Given the description of an element on the screen output the (x, y) to click on. 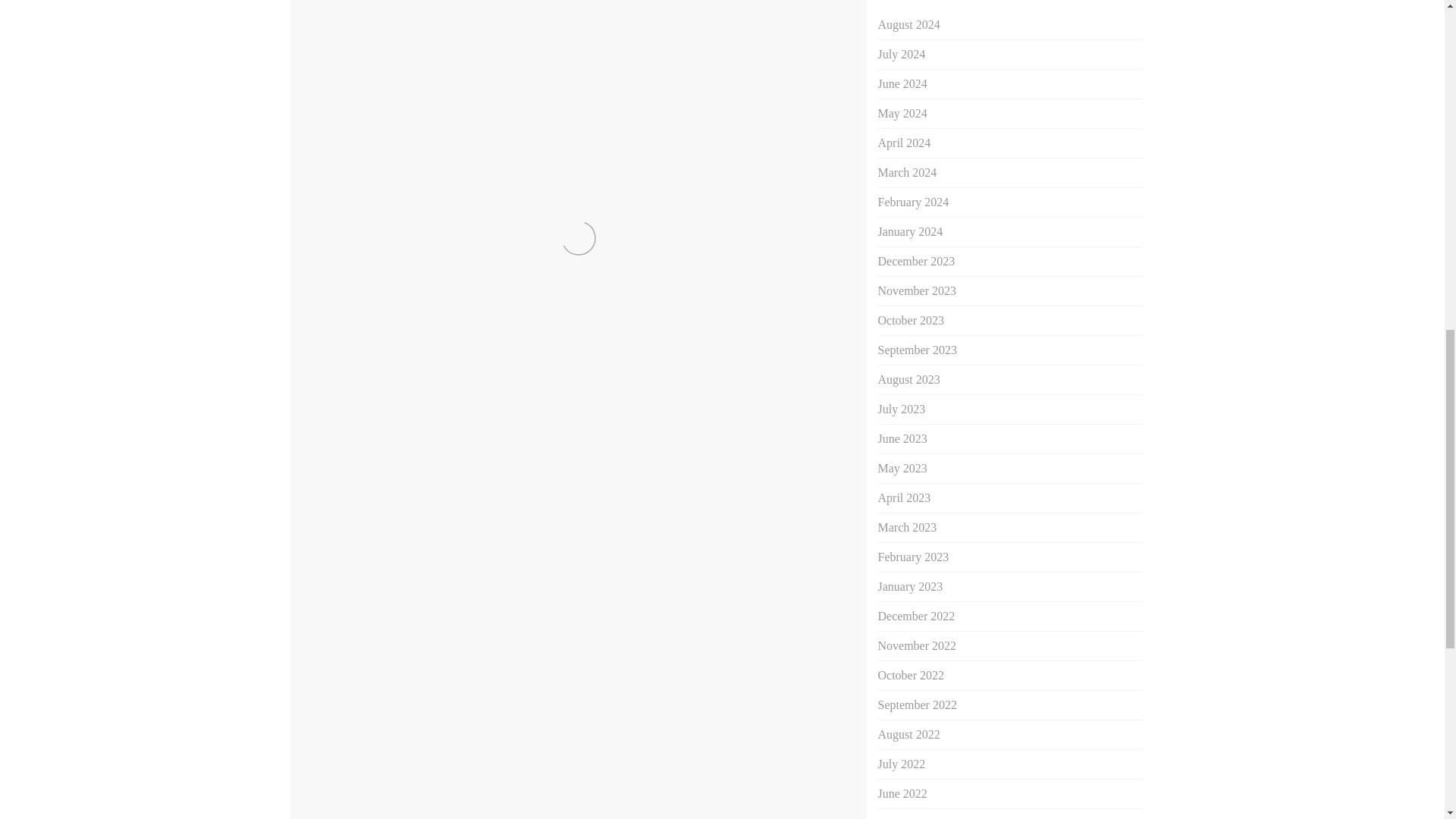
March 2024 (907, 172)
April 2023 (904, 497)
February 2024 (913, 201)
August 2022 (908, 734)
August 2024 (908, 24)
April 2024 (904, 142)
December 2023 (916, 260)
June 2023 (902, 438)
July 2023 (901, 408)
September 2022 (916, 704)
